Given the description of an element on the screen output the (x, y) to click on. 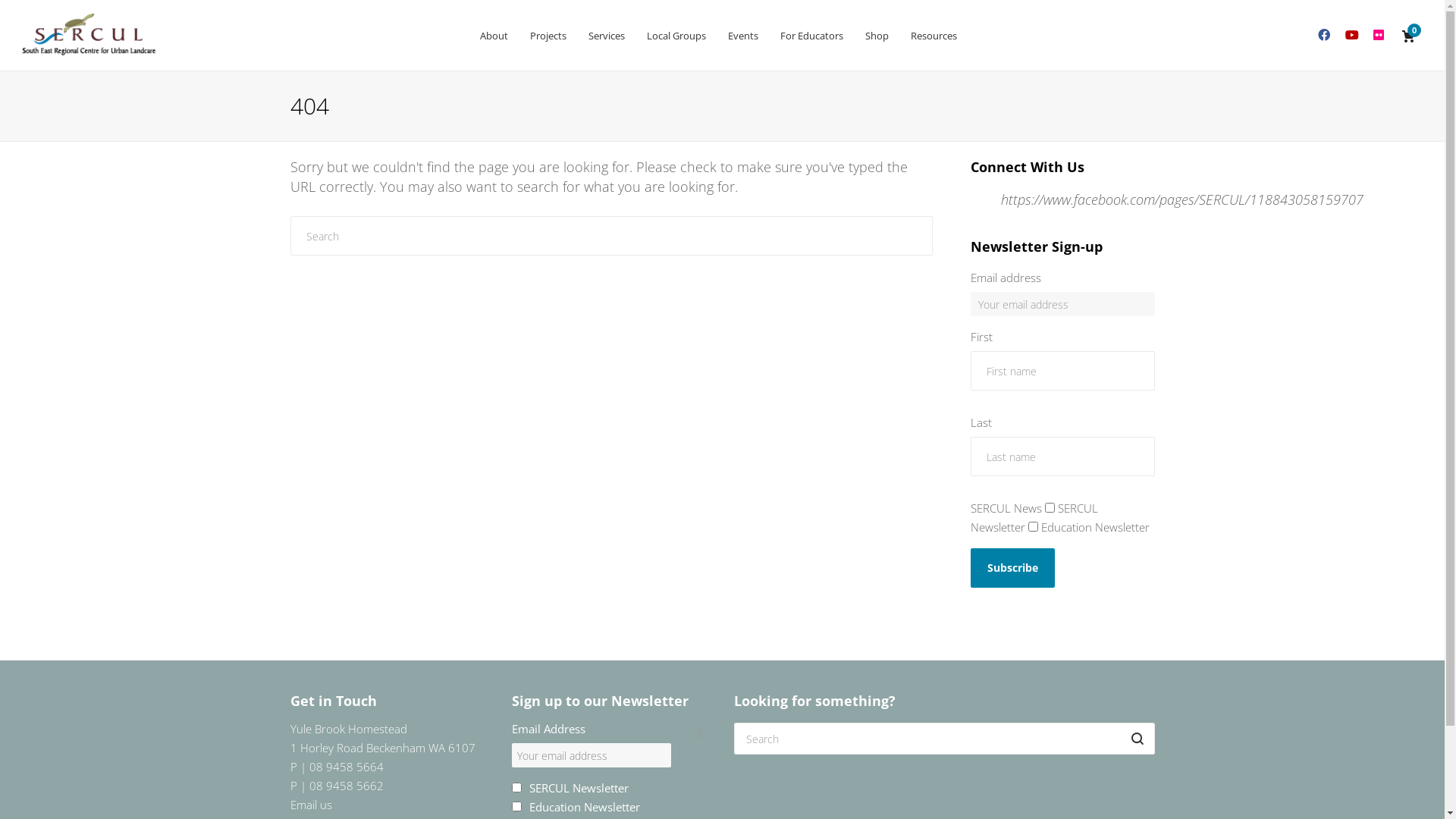
About Element type: text (493, 35)
0 Element type: text (1408, 36)
https://www.facebook.com/pages/SERCUL/118843058159707 Element type: text (1182, 199)
For Educators Element type: text (811, 35)
Shop Element type: text (876, 35)
Search Element type: text (944, 764)
Email us Element type: text (310, 804)
Resources Element type: text (933, 35)
Local Groups Element type: text (676, 35)
Projects Element type: text (547, 35)
Subscribe Element type: text (1012, 567)
Events Element type: text (741, 35)
Services Element type: text (605, 35)
